Given the description of an element on the screen output the (x, y) to click on. 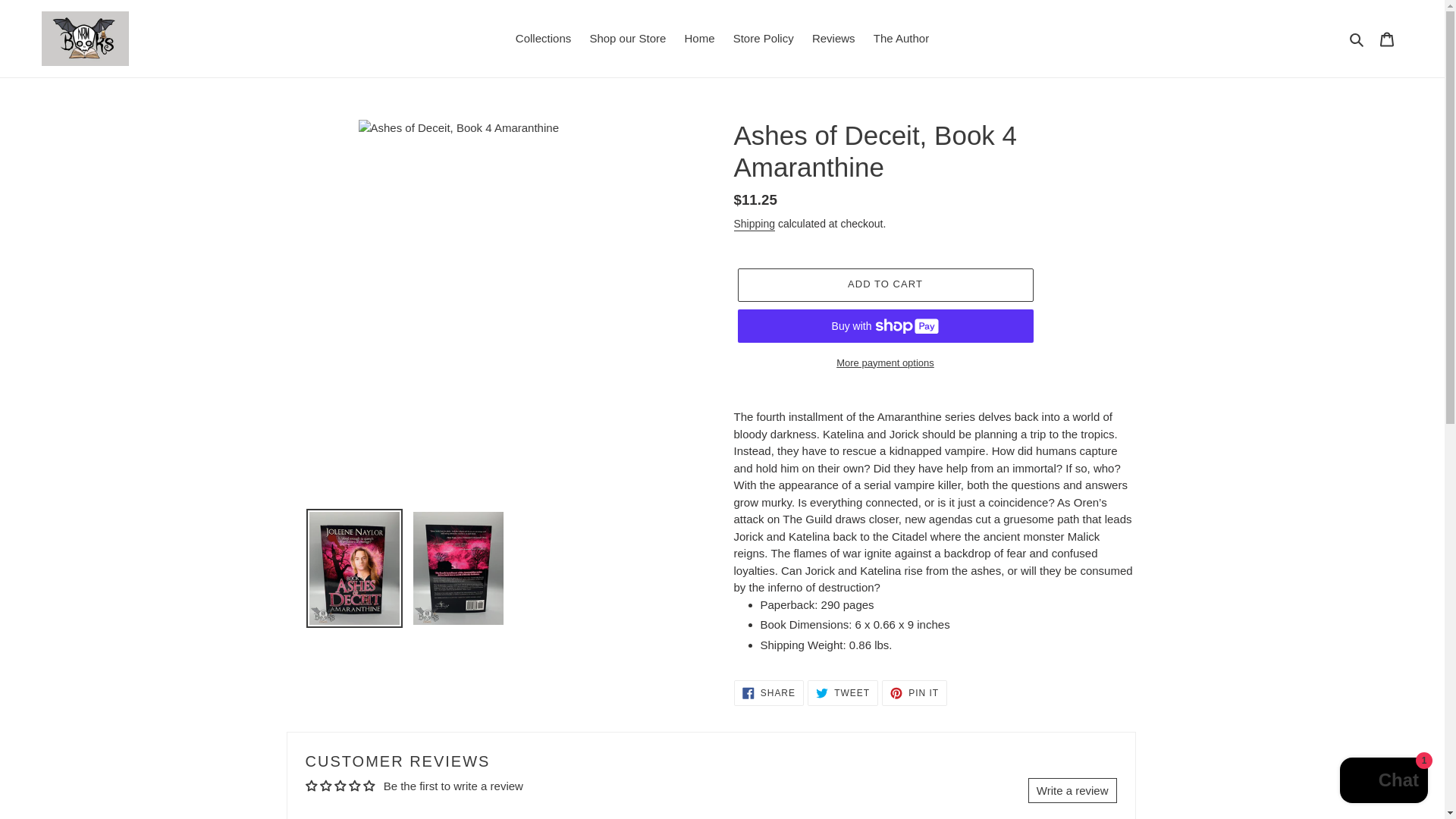
More payment options (884, 362)
Store Policy (763, 38)
Shop our Store (626, 38)
ADD TO CART (884, 285)
Collections (543, 38)
Cart (1387, 38)
Shipping (754, 223)
Shopify online store chat (1383, 781)
Write a review (914, 692)
The Author (1071, 790)
Search (901, 38)
Home (842, 692)
